Given the description of an element on the screen output the (x, y) to click on. 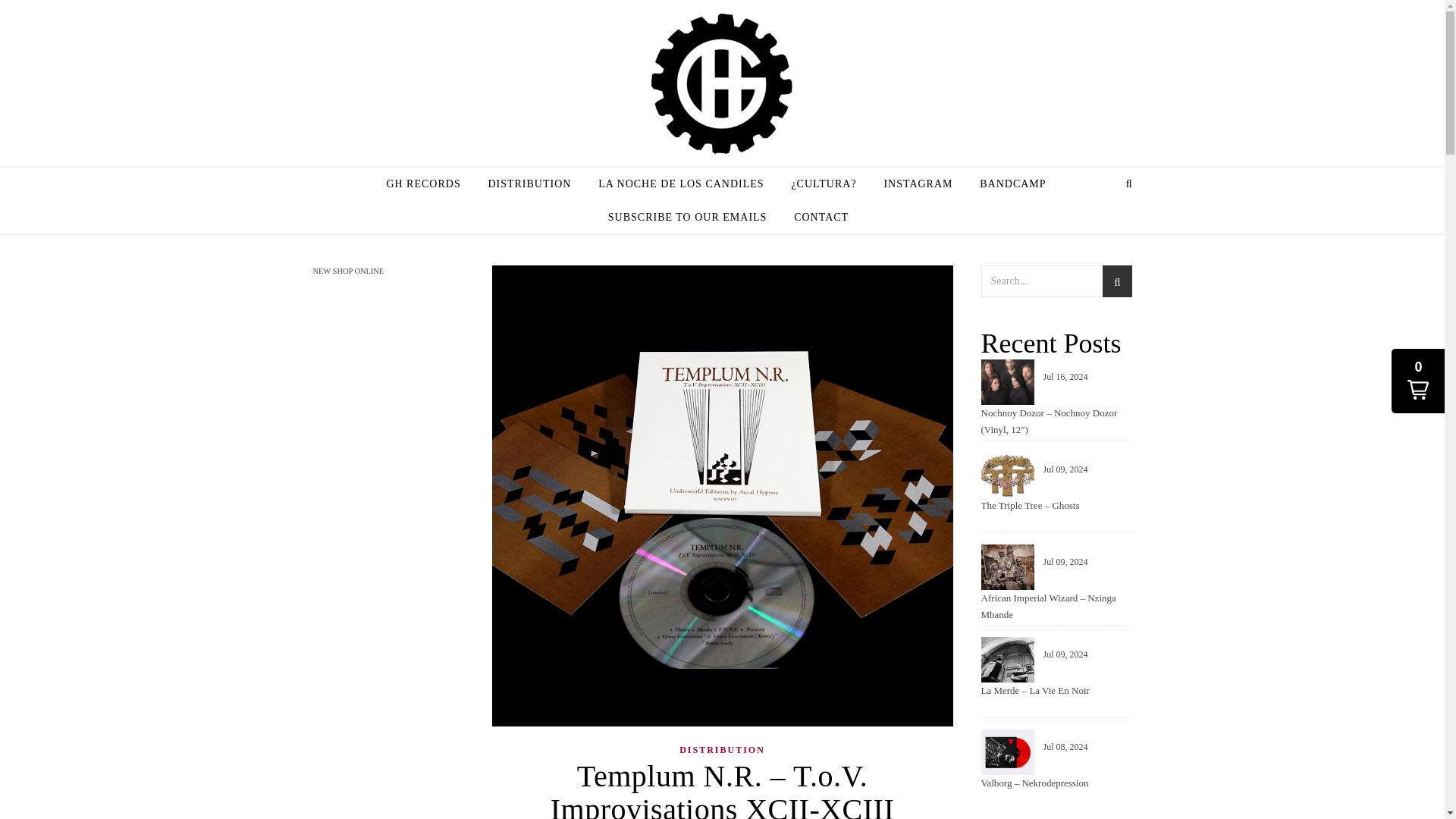
LA NOCHE DE LOS CANDILES (681, 183)
DISTRIBUTION (722, 749)
GH Records (721, 84)
SUBSCRIBE TO OUR EMAILS (686, 217)
BANDCAMP (1013, 183)
INSTAGRAM (916, 183)
NEW SHOP ONLINE (348, 270)
CONTACT (814, 217)
GH RECORDS (428, 183)
DISTRIBUTION (529, 183)
